Given the description of an element on the screen output the (x, y) to click on. 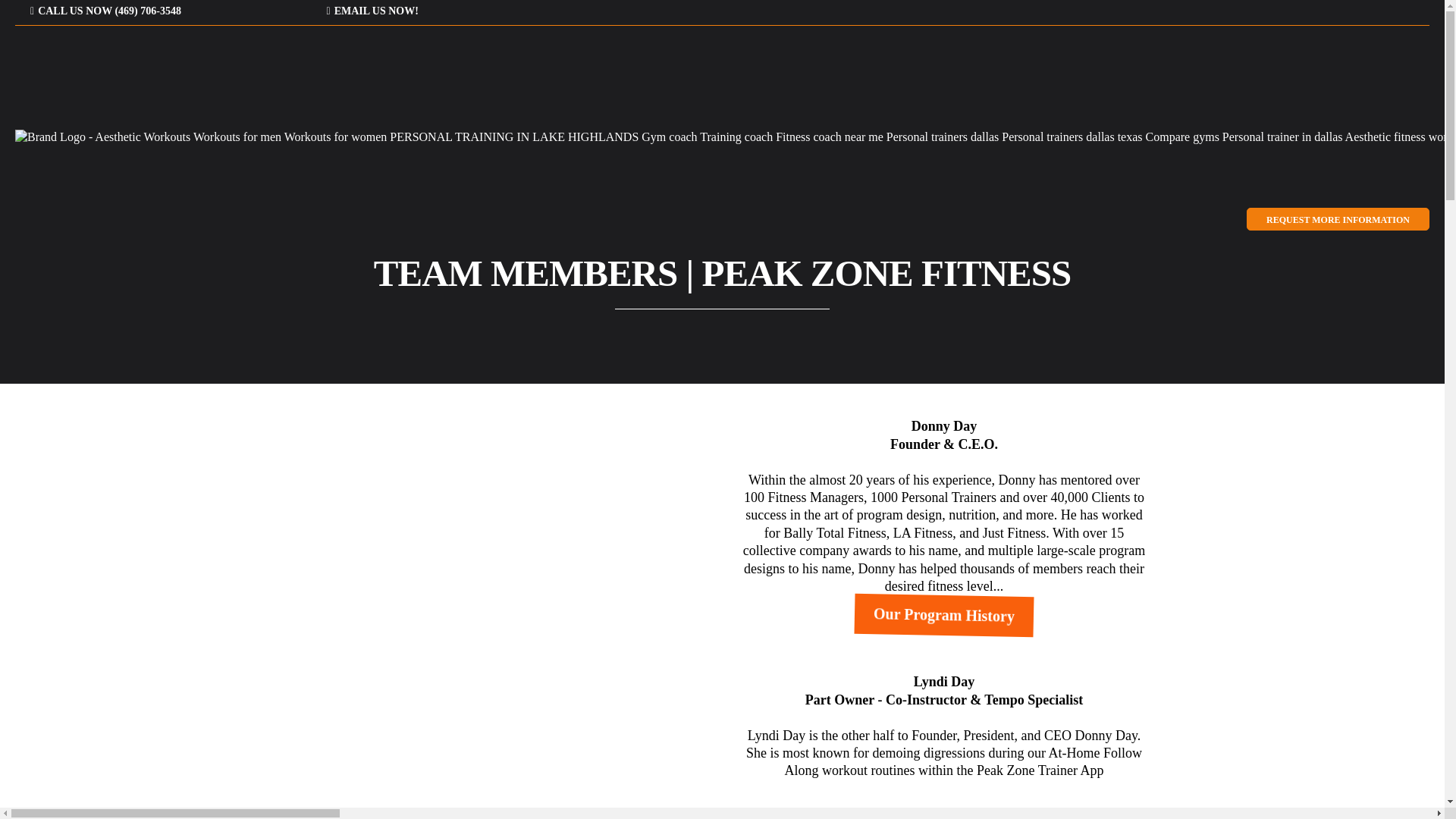
Our Program History (943, 614)
REQUEST MORE INFORMATION (1337, 219)
EMAIL US NOW! (374, 10)
